Given the description of an element on the screen output the (x, y) to click on. 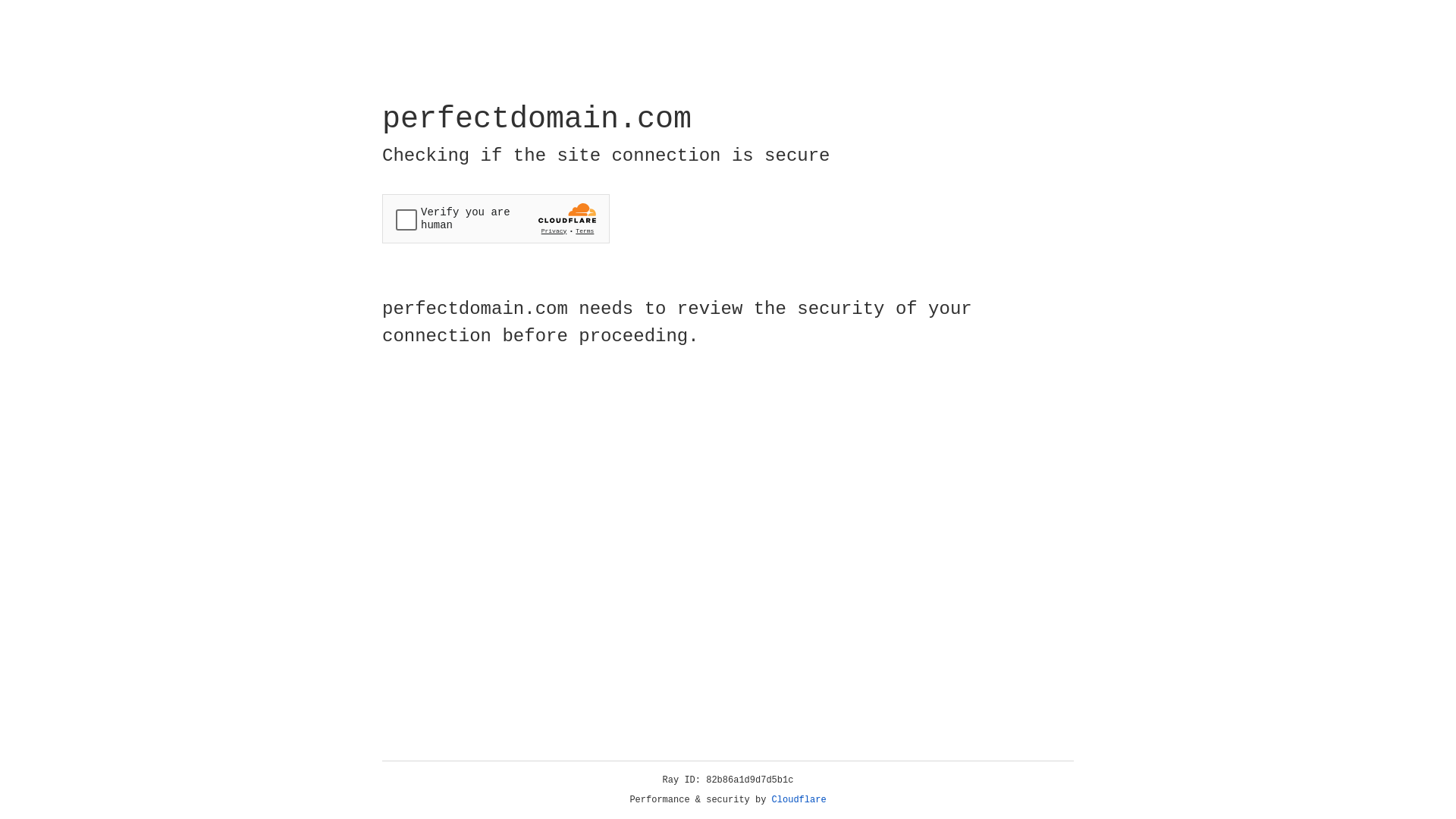
Widget containing a Cloudflare security challenge Element type: hover (495, 218)
Cloudflare Element type: text (798, 799)
